Given the description of an element on the screen output the (x, y) to click on. 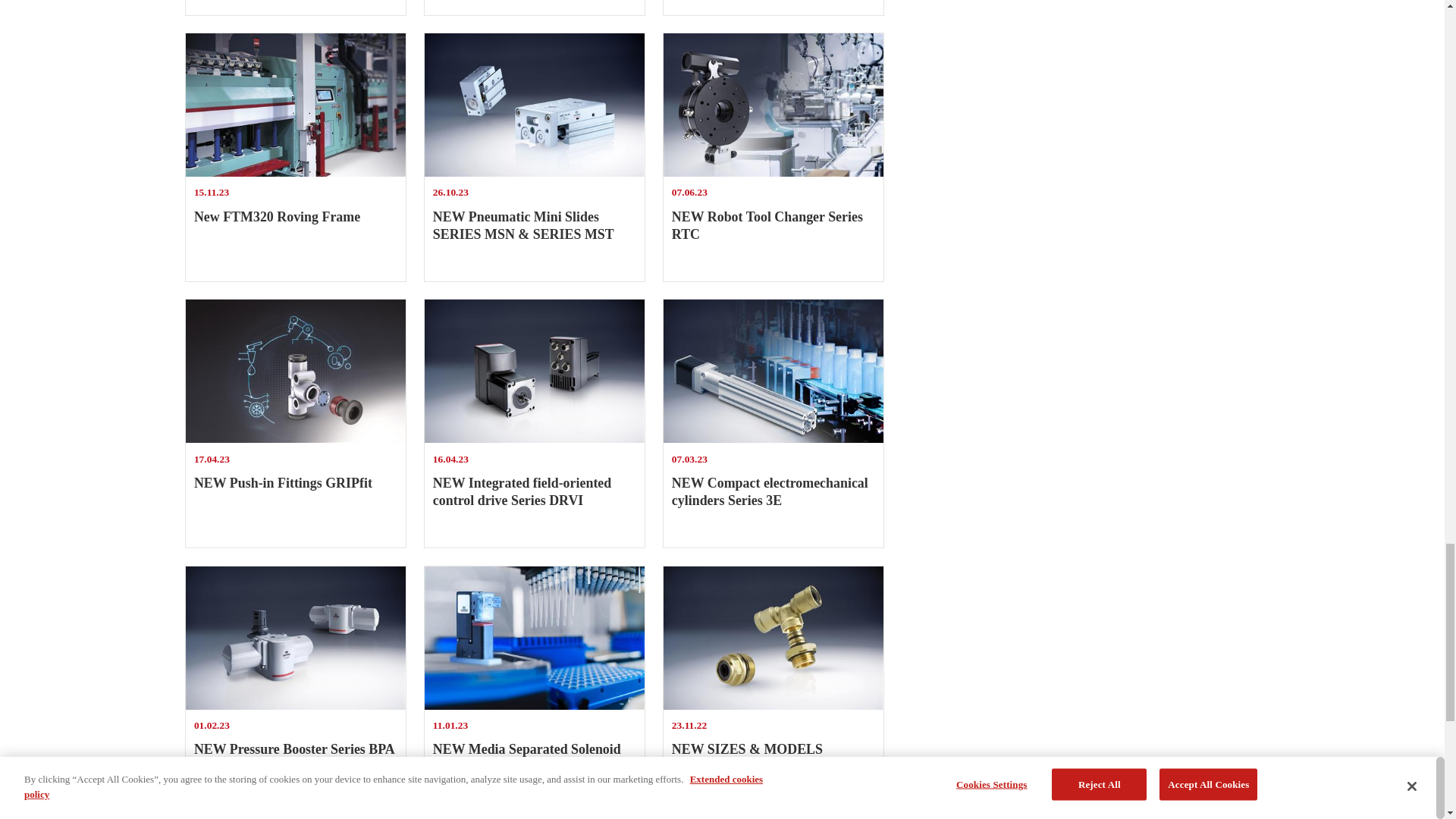
NEW Integrated field-oriented control drive Series DRVI (535, 371)
NEW Push-in Fittings GRIPfit (296, 371)
NEW Compact electromechanical cylinders Series 3E (773, 422)
New FTM320 Roving Frame (773, 7)
Camozzi Tool changer Series RTC application (295, 689)
NEW Media Separated Solenoid Valves Series KDV (773, 371)
